Given the description of an element on the screen output the (x, y) to click on. 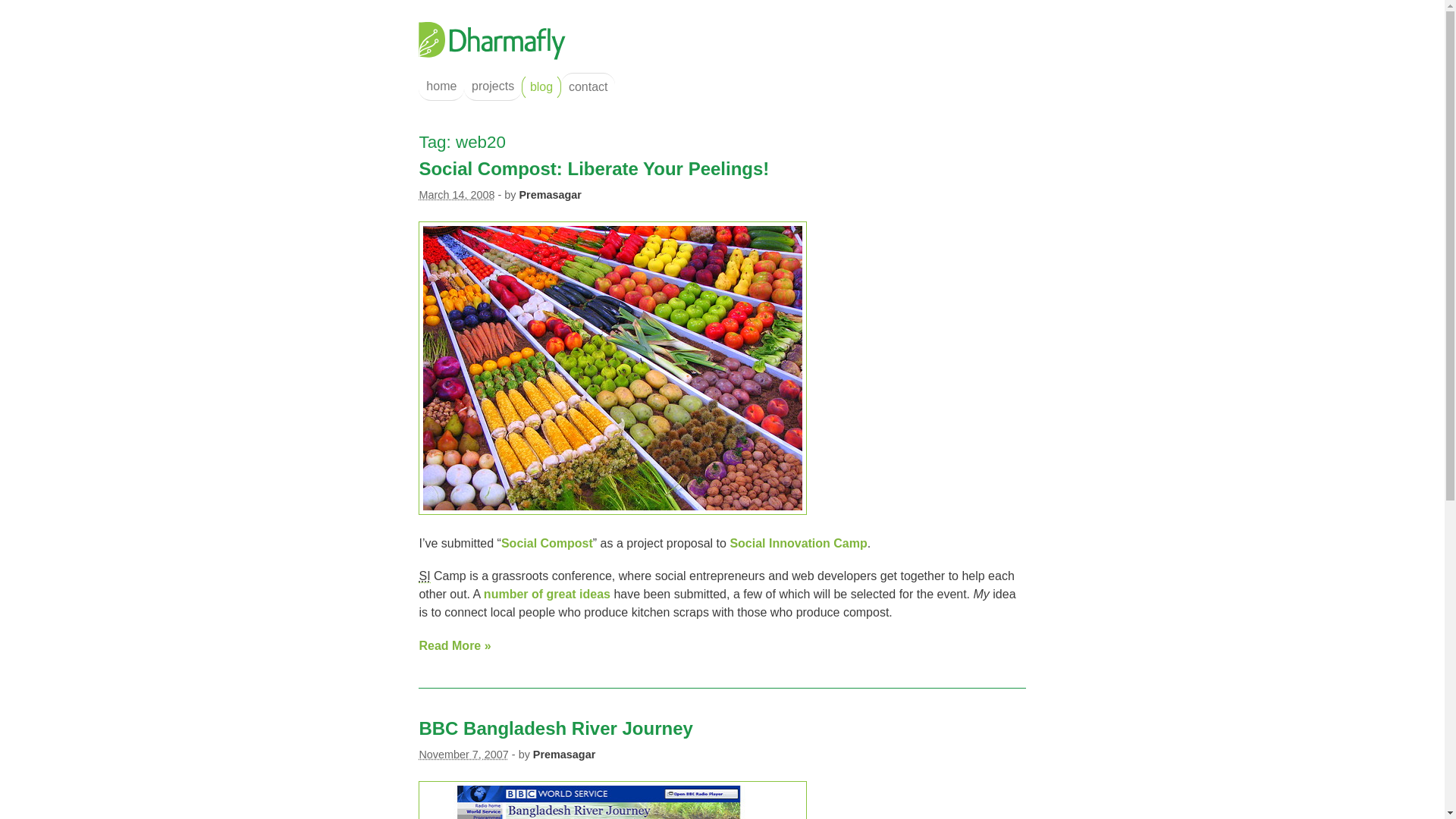
Social Compost: Liberate Your Peelings! (546, 543)
contact (587, 86)
Permalink to Social Compost: Liberate Your Peelings! (593, 168)
Permalink to BBC Bangladesh River Journey (556, 728)
blog (540, 86)
Submitted ideas to Social Innovation Camp (546, 594)
Social Innovation Camp (797, 543)
Premasagar (563, 754)
BBC Bangladesh River Journey (556, 728)
number of great ideas (546, 594)
